Given the description of an element on the screen output the (x, y) to click on. 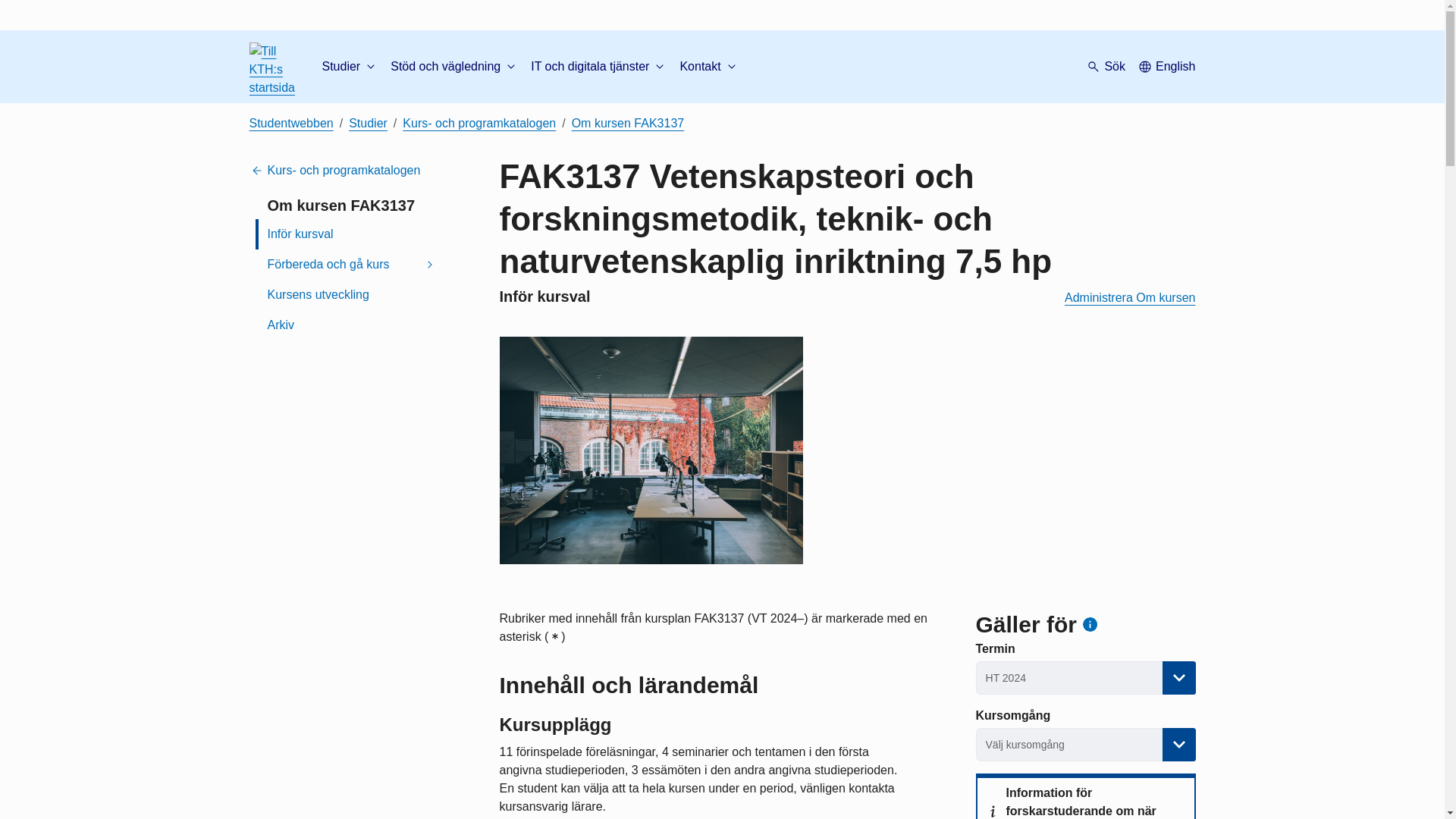
Studier (349, 66)
Kontakt (708, 66)
Administrera Om kursen (1129, 297)
English (1166, 66)
